Given the description of an element on the screen output the (x, y) to click on. 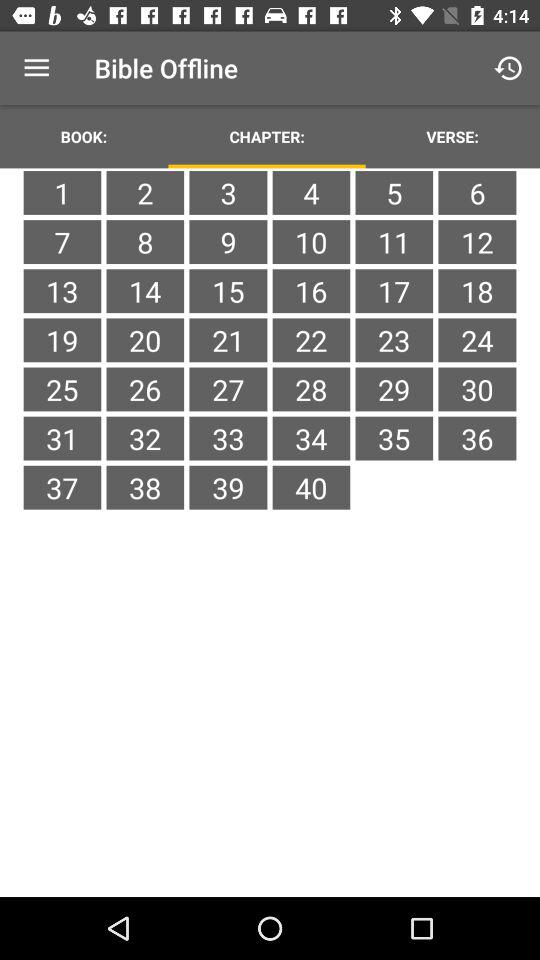
flip until 29 icon (394, 389)
